Given the description of an element on the screen output the (x, y) to click on. 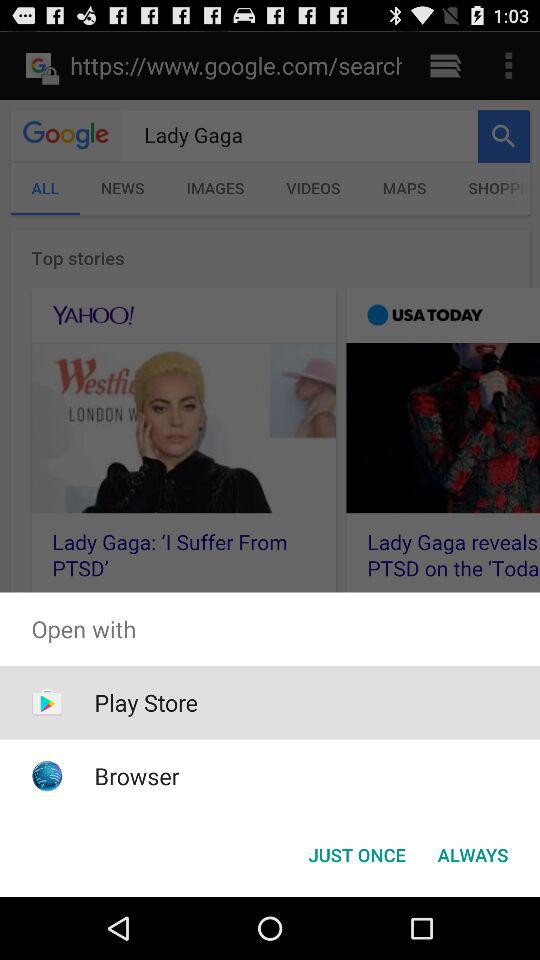
select just once button (356, 854)
